Given the description of an element on the screen output the (x, y) to click on. 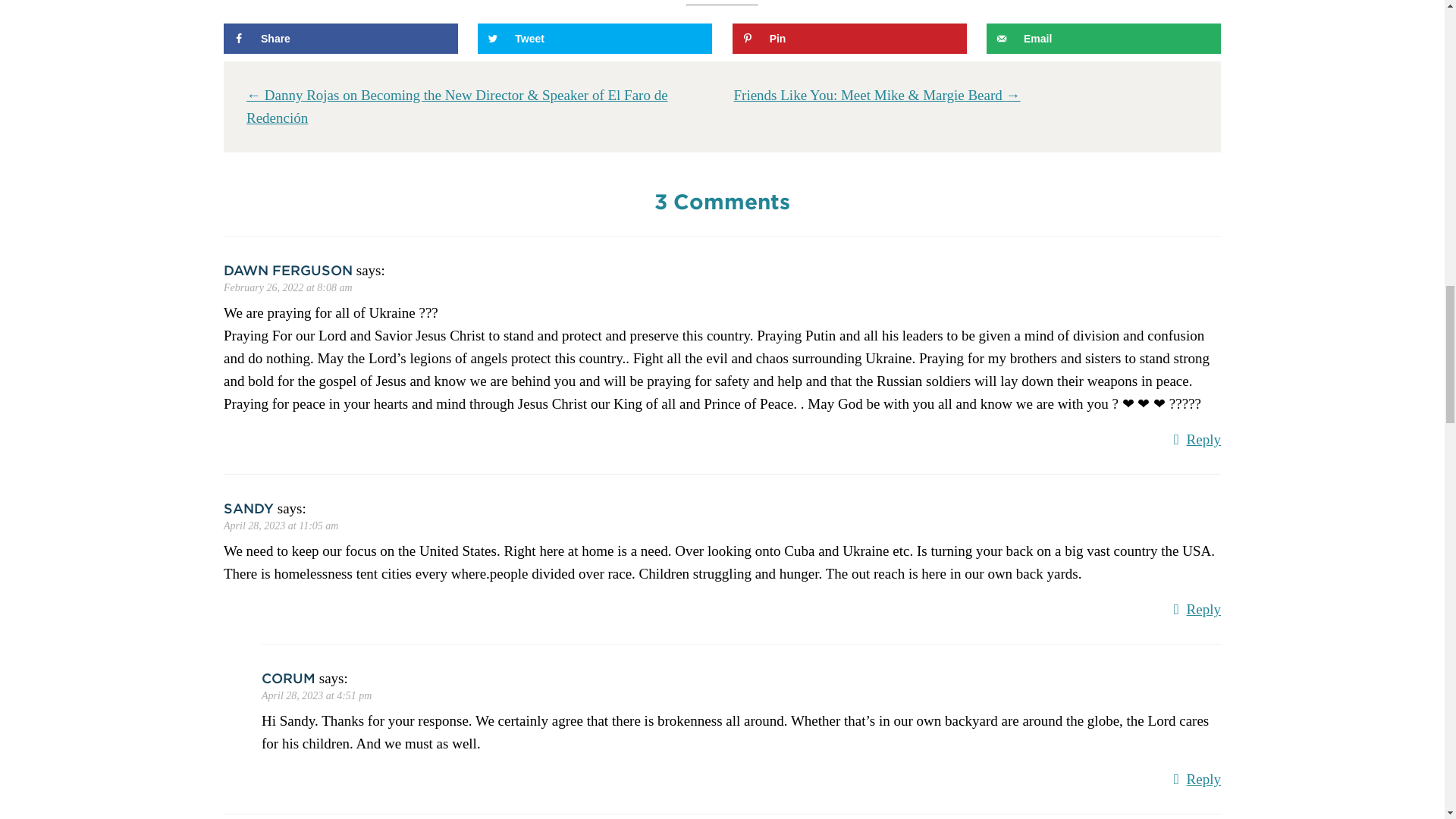
Send over email (1104, 38)
Save to Pinterest (849, 38)
Share on Twitter (594, 38)
Share on Facebook (341, 38)
